Given the description of an element on the screen output the (x, y) to click on. 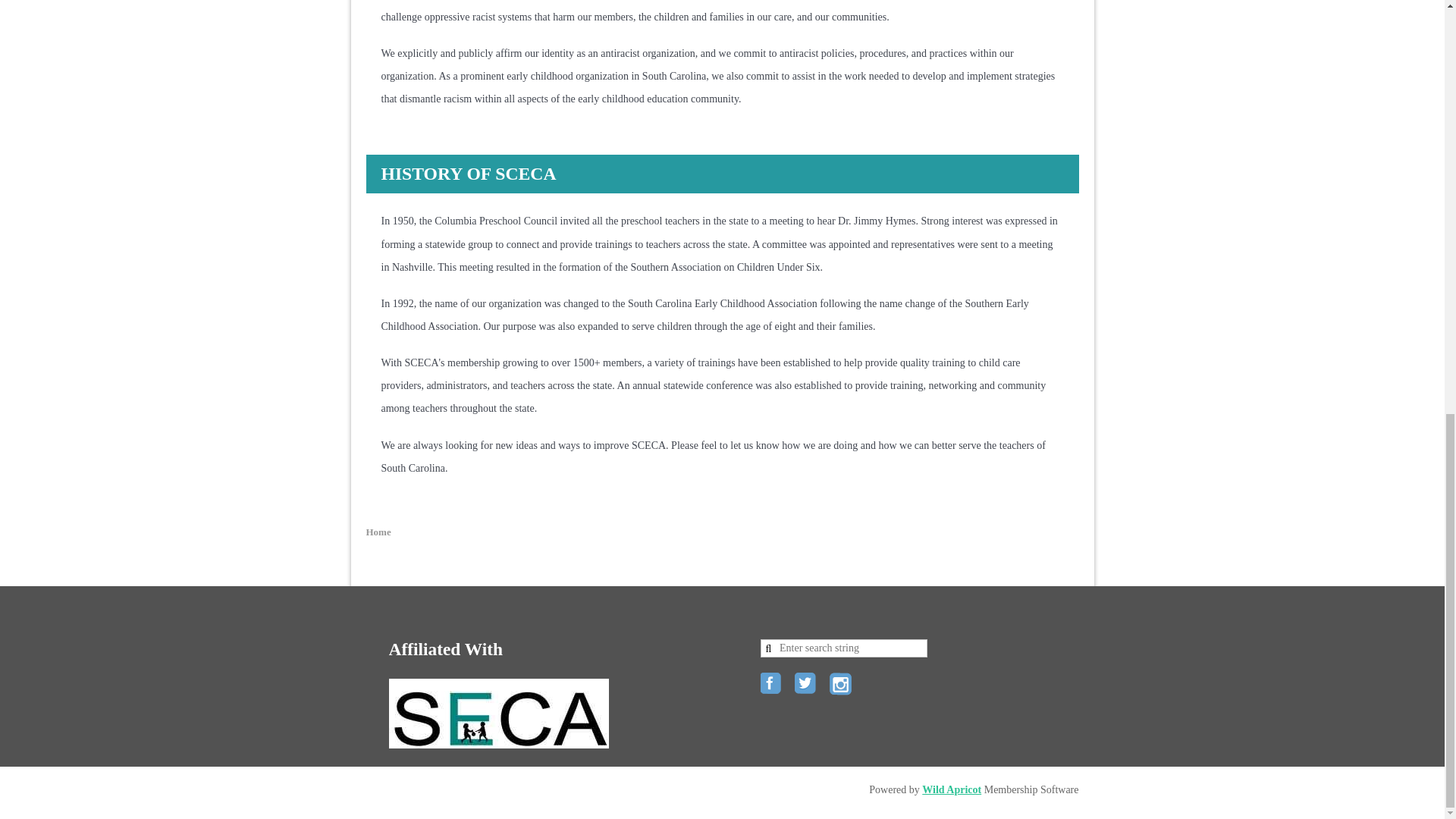
Wild Apricot (951, 789)
Facebook (772, 684)
Instagram (841, 684)
Twitter (806, 684)
